Given the description of an element on the screen output the (x, y) to click on. 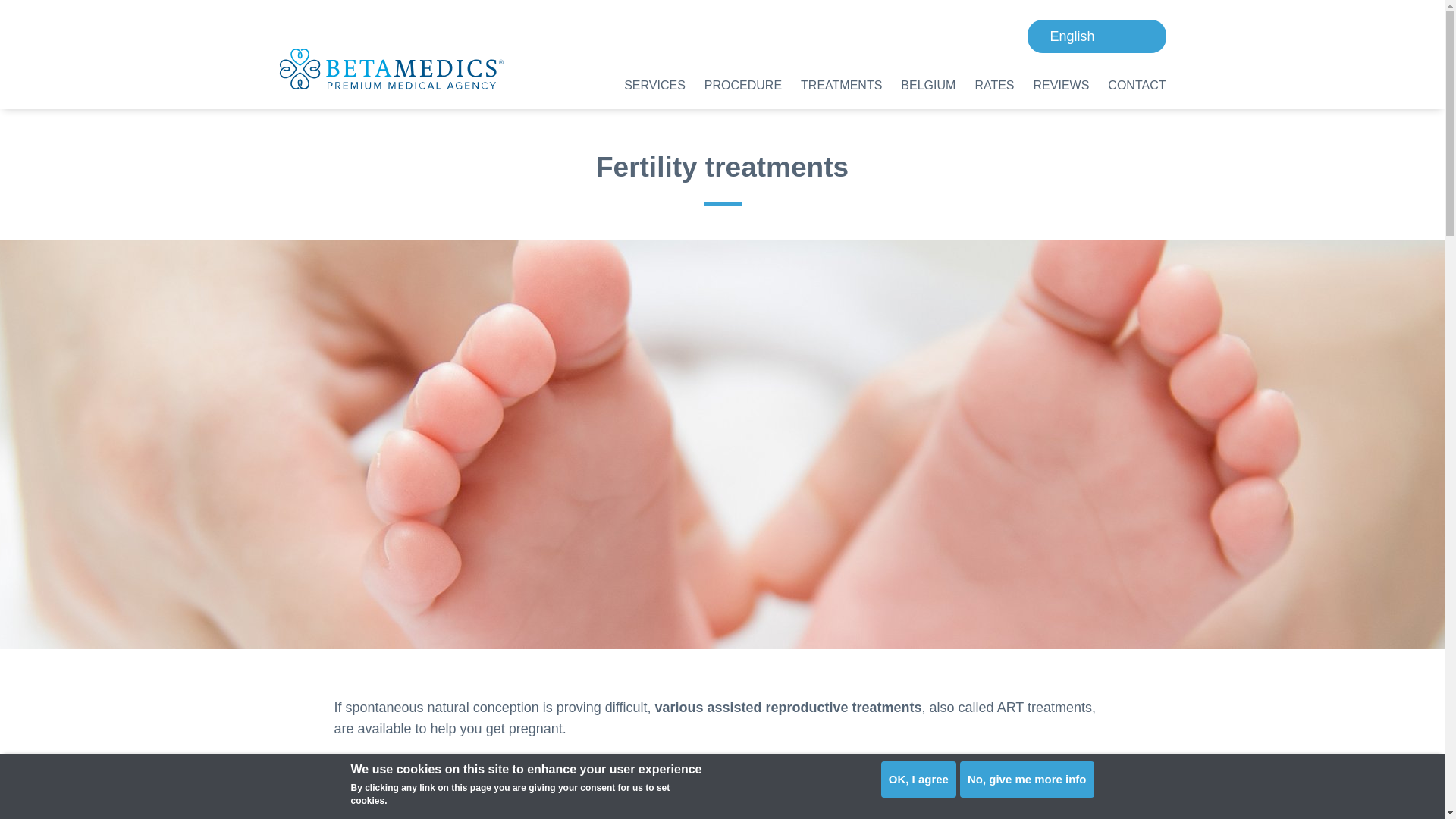
PROCEDURE (742, 85)
Home (391, 68)
No, give me more info (1026, 779)
English (1096, 36)
BELGIUM (928, 85)
Fertility treatments (1096, 36)
OK, I agree (918, 779)
TREATMENTS (841, 85)
REVIEWS (1061, 85)
SERVICES (654, 85)
